Given the description of an element on the screen output the (x, y) to click on. 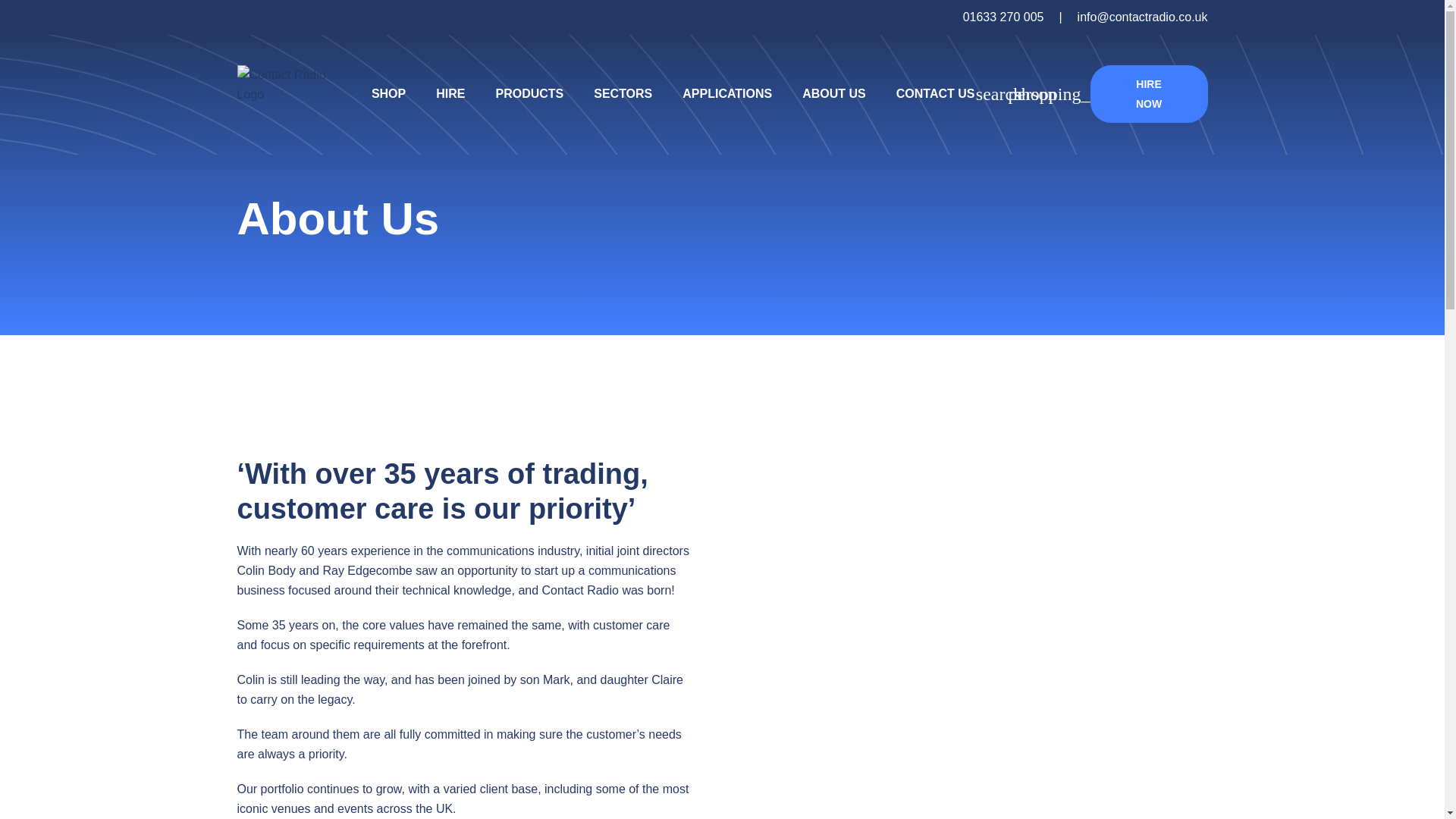
SHOP (388, 94)
ABOUT US (834, 94)
SECTORS (623, 94)
CONTACT US (935, 94)
HIRE NOW (1149, 93)
HIRE (449, 94)
PRODUCTS (529, 94)
01633 270 005 (1002, 17)
person (1032, 94)
APPLICATIONS (726, 94)
